Given the description of an element on the screen output the (x, y) to click on. 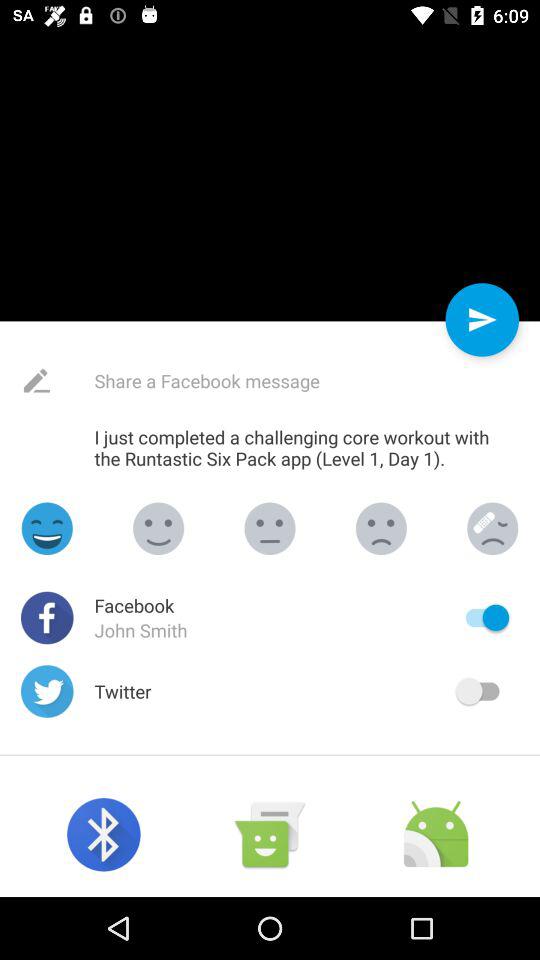
share on facebook (254, 380)
